Given the description of an element on the screen output the (x, y) to click on. 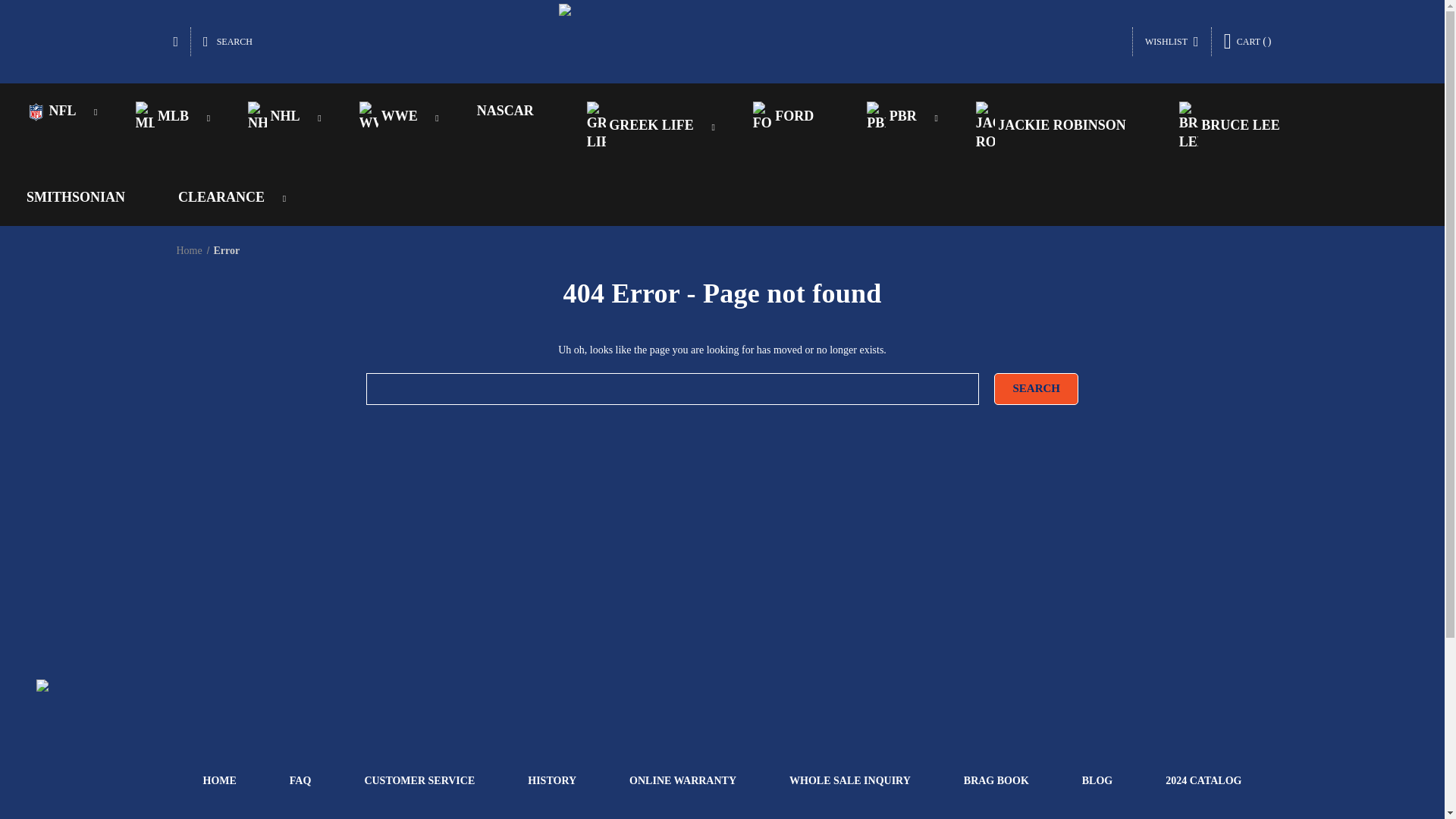
WISHLIST (1171, 41)
Game Time Watches (721, 41)
CART (1247, 41)
NFL (35, 111)
Search (1036, 388)
SEARCH (227, 41)
NFL (54, 111)
